Given the description of an element on the screen output the (x, y) to click on. 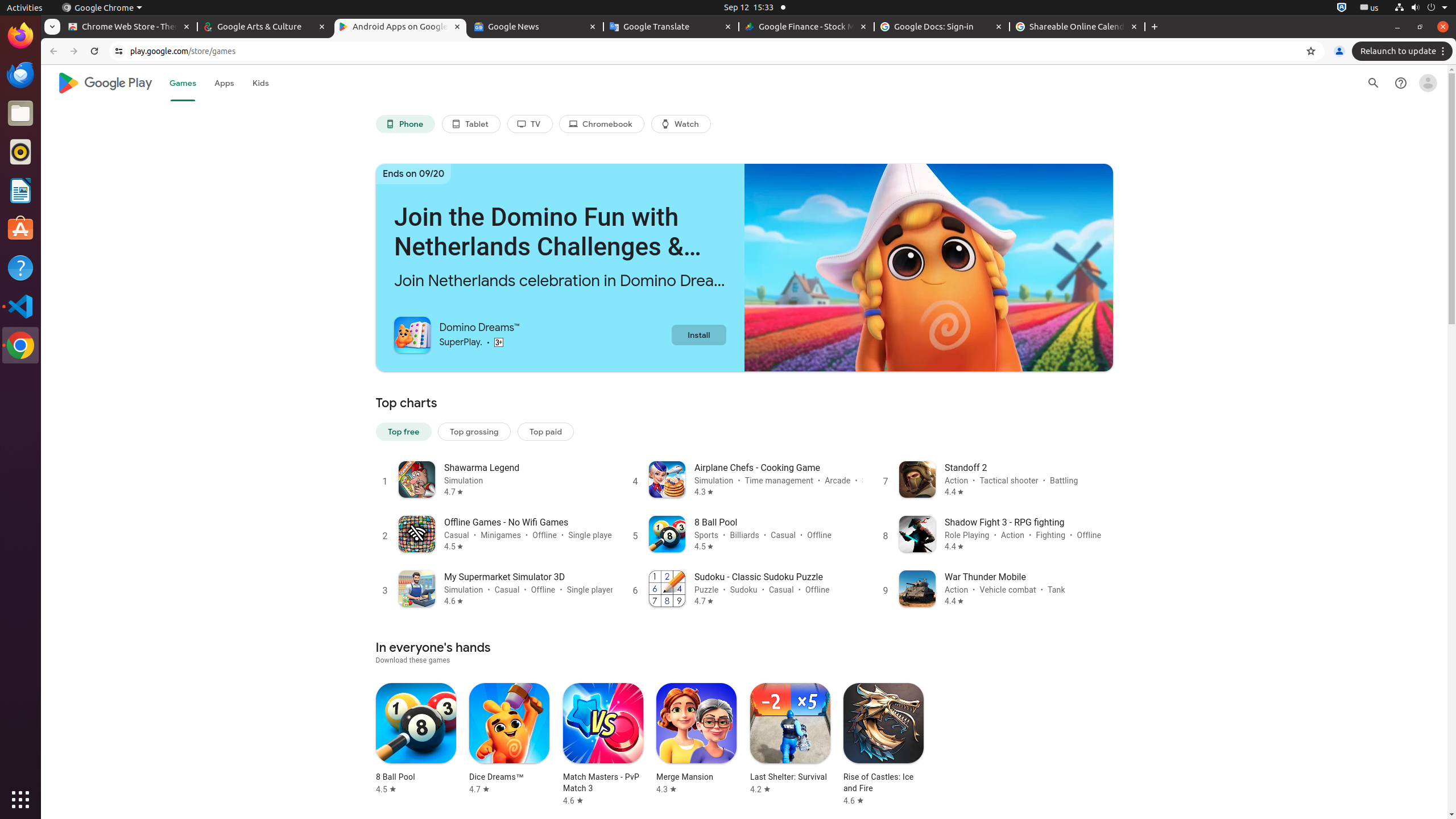
Ends on 09/20 Join the Domino Fun with Netherlands Challenges & Prizes! Join Netherlands celebration in Domino Dreams! Experience thrilling domino action with windmills and cheese-themed challenges! Element type: link (744, 267)
Match Masters ‎- PvP Match 3 Rated 4.6 stars out of five stars Element type: link (602, 744)
Chromebook Element type: link (601, 123)
Top free Element type: toggle-button (403, 431)
TV Element type: link (529, 123)
